Given the description of an element on the screen output the (x, y) to click on. 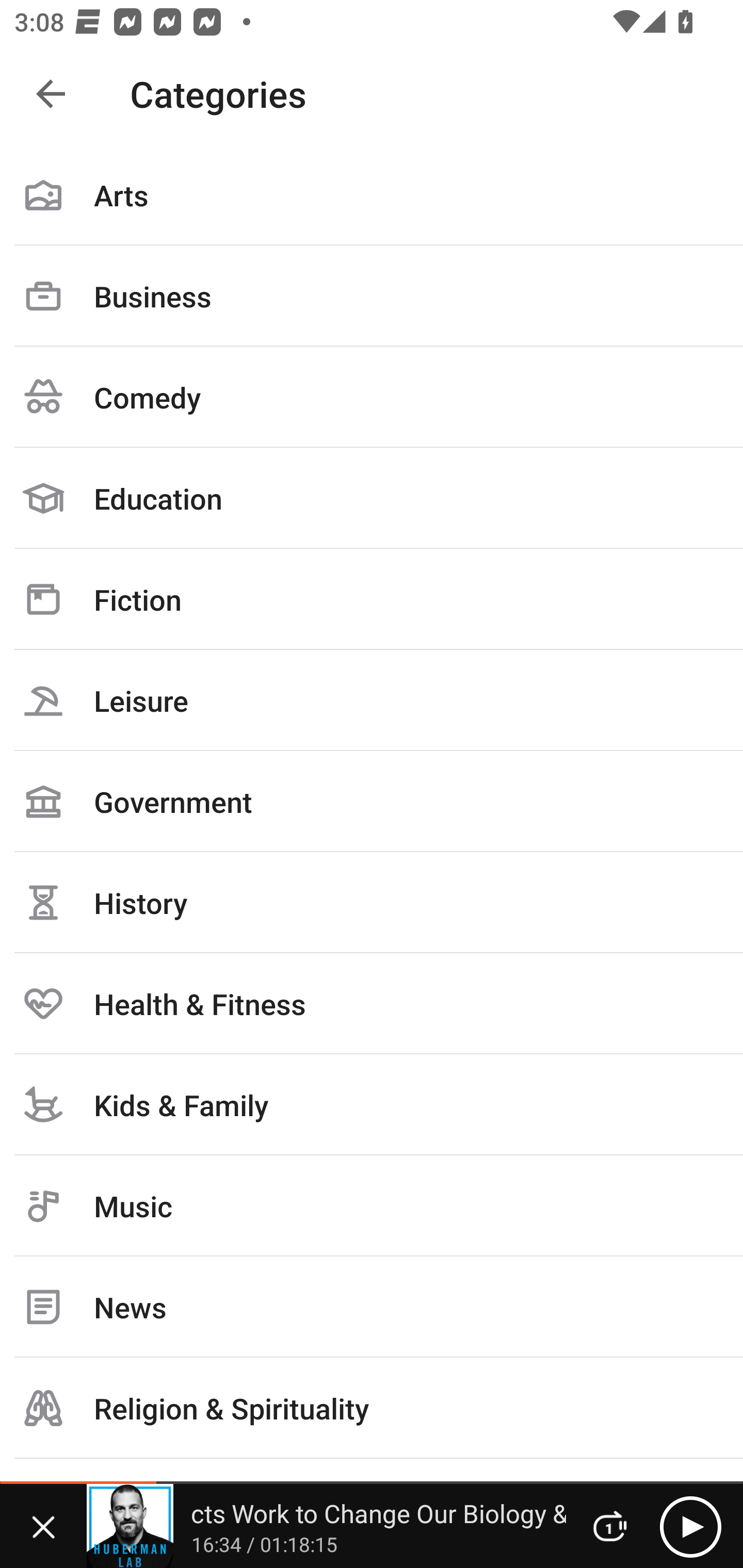
Navigate up (50, 93)
Arts (371, 195)
Business (371, 296)
Comedy (371, 397)
Education (371, 498)
Fiction (371, 598)
Leisure (371, 700)
Government (371, 801)
History (371, 902)
Health & Fitness (371, 1003)
Kids & Family (371, 1104)
Music (371, 1205)
News (371, 1306)
Religion & Spirituality (371, 1407)
Play (690, 1526)
